Given the description of an element on the screen output the (x, y) to click on. 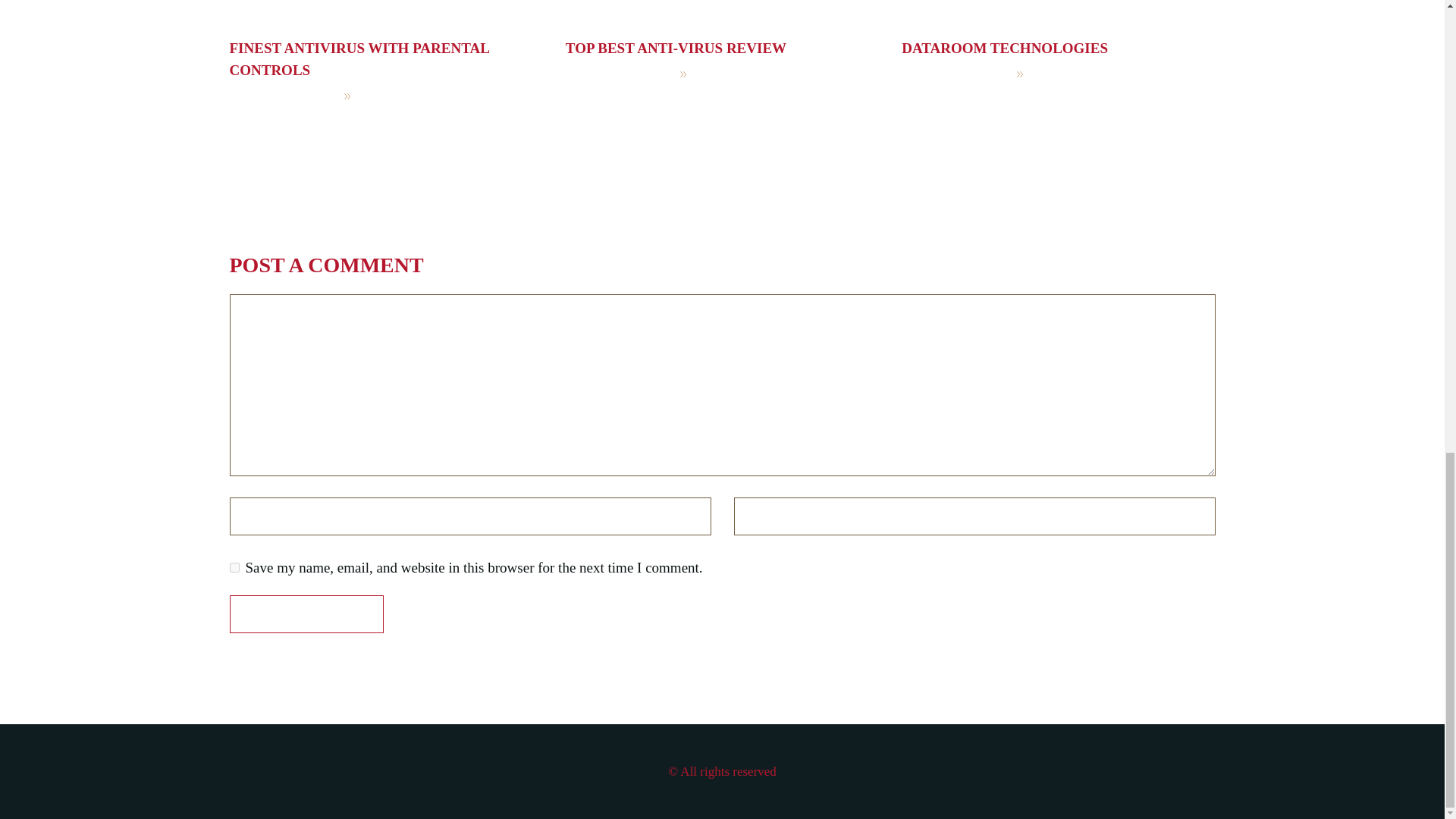
October 9, 2022 (619, 73)
yes (233, 567)
Finest Antivirus With Parental Controls (357, 58)
DATAROOM TECHNOLOGIES (1004, 48)
Heaven Restaurant (423, 94)
FINEST ANTIVIRUS WITH PARENTAL CONTROLS (357, 58)
Top Best Anti-virus Review (676, 48)
Heaven Restaurant (760, 73)
October 9, 2022 (282, 94)
TOP BEST ANTI-VIRUS REVIEW (676, 48)
